Given the description of an element on the screen output the (x, y) to click on. 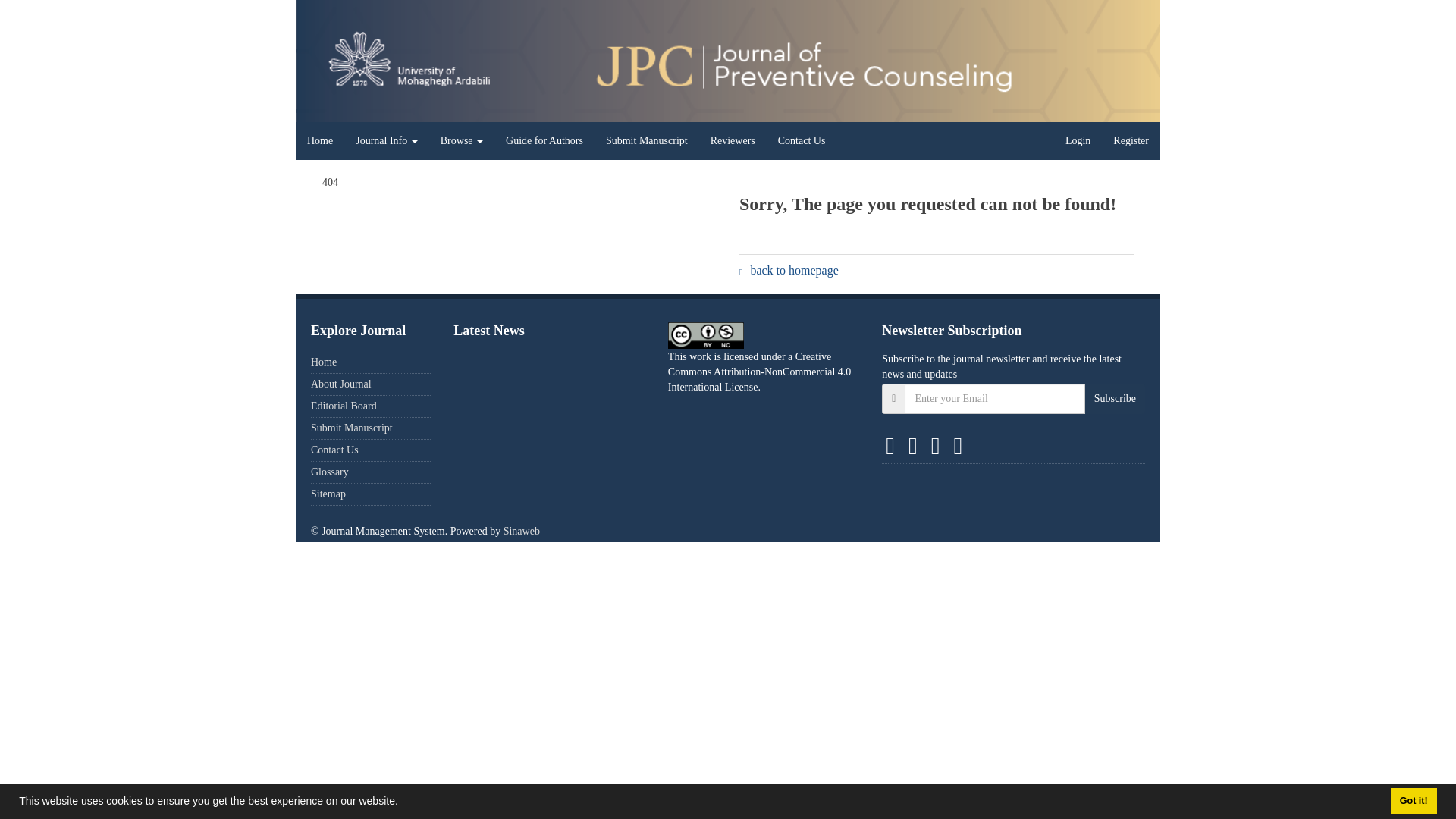
Login (1078, 140)
Register (1131, 140)
Sitemap (328, 493)
Contact Us (334, 449)
back to homepage (788, 269)
Glossary (330, 471)
Submit Manuscript (352, 428)
About Journal (341, 383)
Home (323, 361)
Contact Us (802, 140)
